Given the description of an element on the screen output the (x, y) to click on. 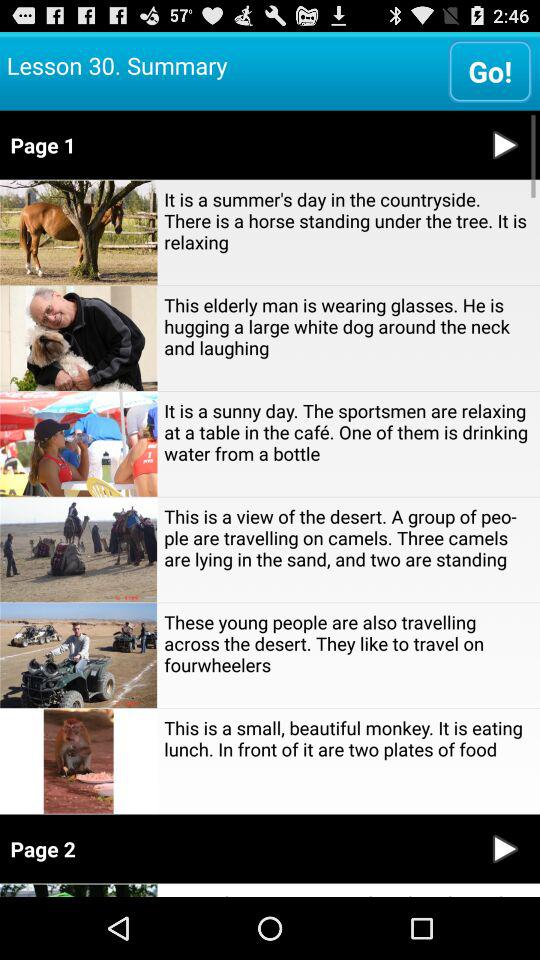
click on the button which is next to page 1 (504, 144)
